Given the description of an element on the screen output the (x, y) to click on. 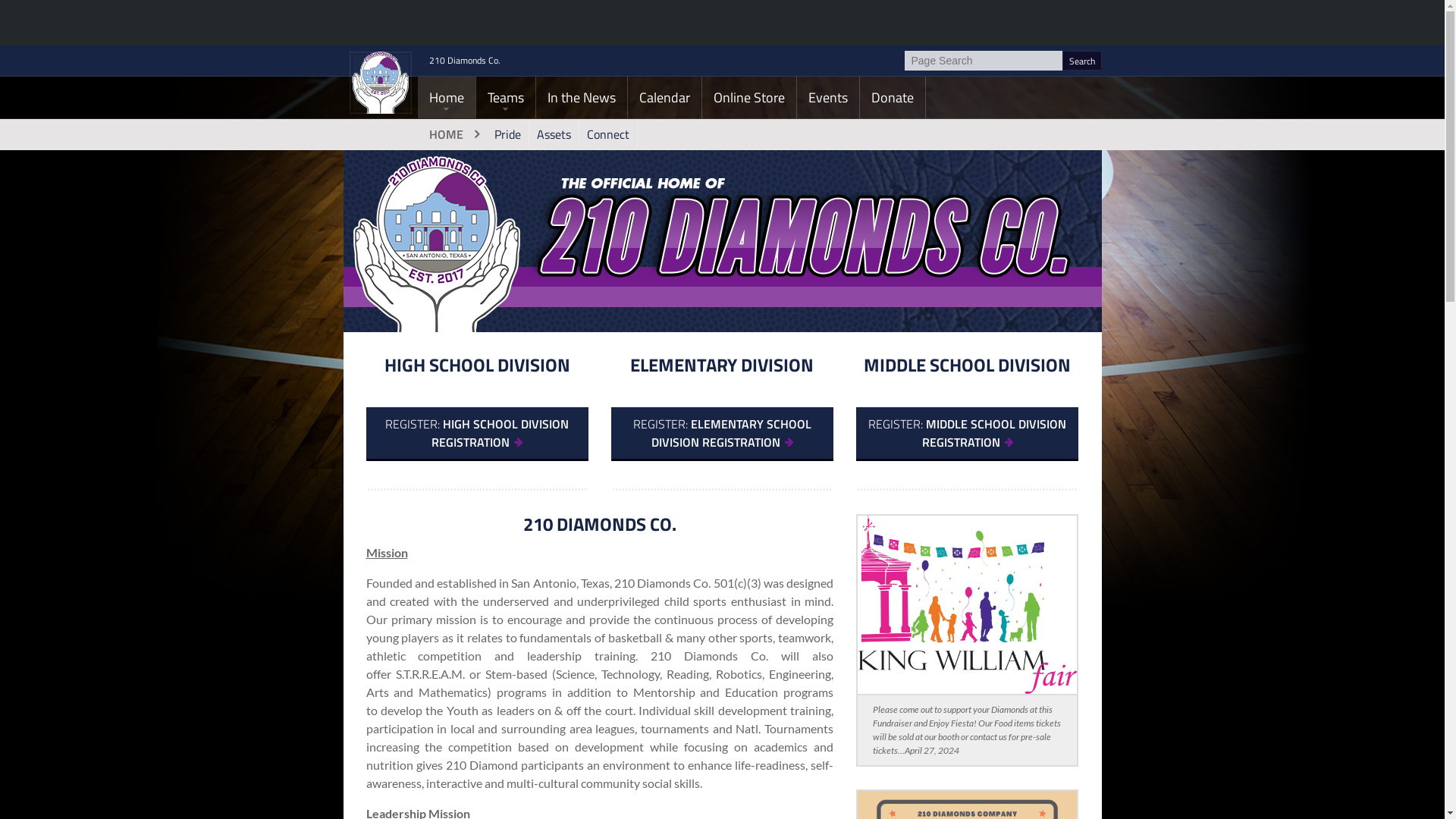
Connect Element type: text (608, 134)
In the News Element type: text (580, 97)
Home Element type: text (445, 97)
REGISTER: MIDDLE SCHOOL DIVISION REGISTRATION Element type: text (967, 434)
Donate Element type: text (892, 97)
Online Store Element type: text (749, 97)
Assets Element type: text (553, 134)
Events Element type: text (827, 97)
Teams Element type: text (505, 97)
REGISTER: ELEMENTARY SCHOOL DIVISION REGISTRATION Element type: text (722, 434)
HOME Element type: text (451, 134)
REGISTER: HIGH SCHOOL DIVISION REGISTRATION Element type: text (476, 434)
Calendar Element type: text (664, 97)
Pride Element type: text (507, 134)
